Given the description of an element on the screen output the (x, y) to click on. 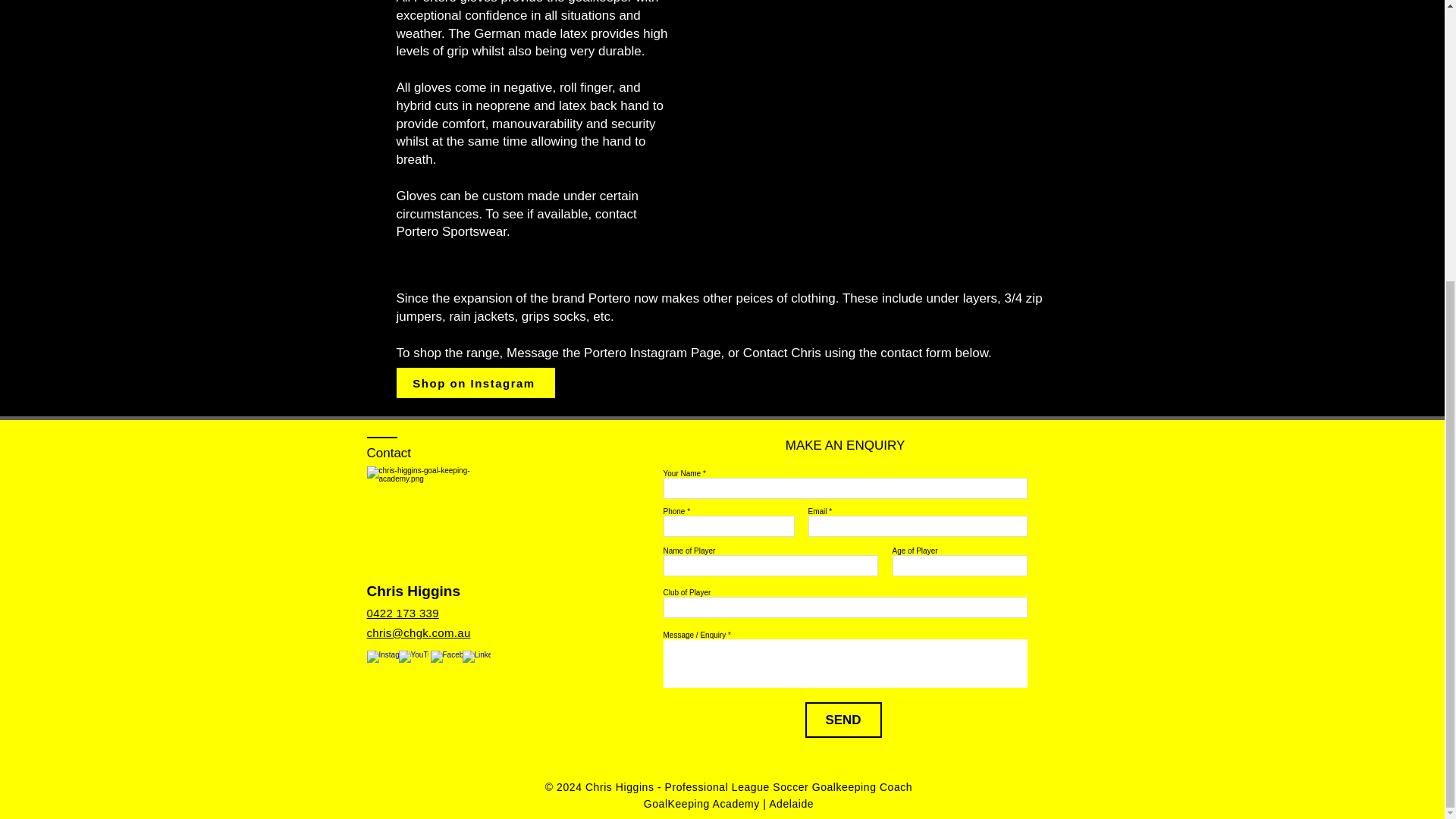
SEND (843, 719)
0422 173 339 (402, 612)
Screen Shot 2022-07-11 at 1.37.43 pm.png (890, 122)
Shop on Instagram (475, 382)
